Given the description of an element on the screen output the (x, y) to click on. 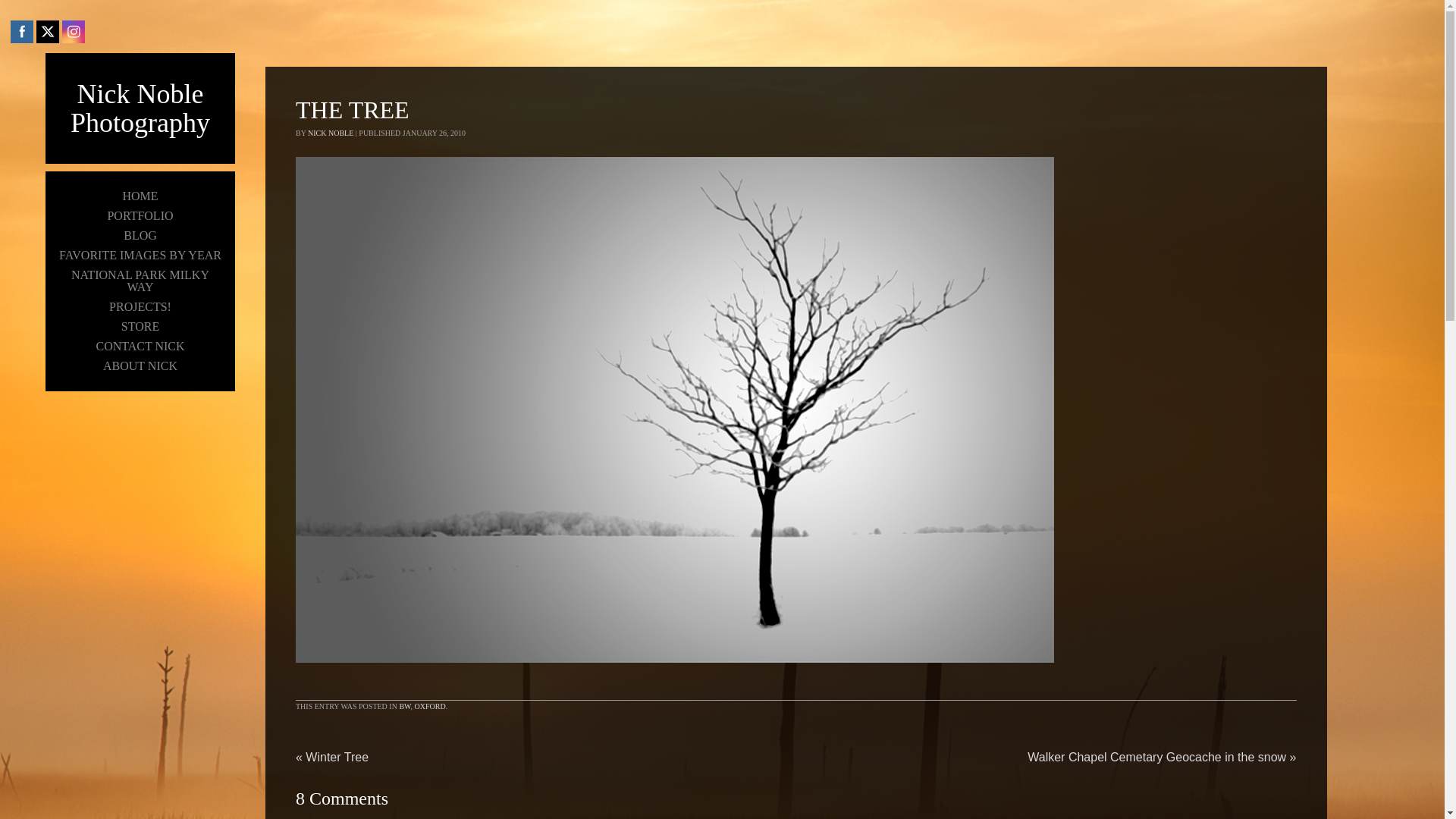
BW (404, 705)
ABOUT NICK (139, 365)
OXFORD (429, 705)
CONTACT NICK (139, 346)
NATIONAL PARK MILKY WAY (139, 281)
View all posts by Nick Noble (330, 132)
PORTFOLIO (139, 216)
STORE (139, 326)
FAVORITE IMAGES BY YEAR (139, 255)
Nick Noble Photography (139, 108)
